Given the description of an element on the screen output the (x, y) to click on. 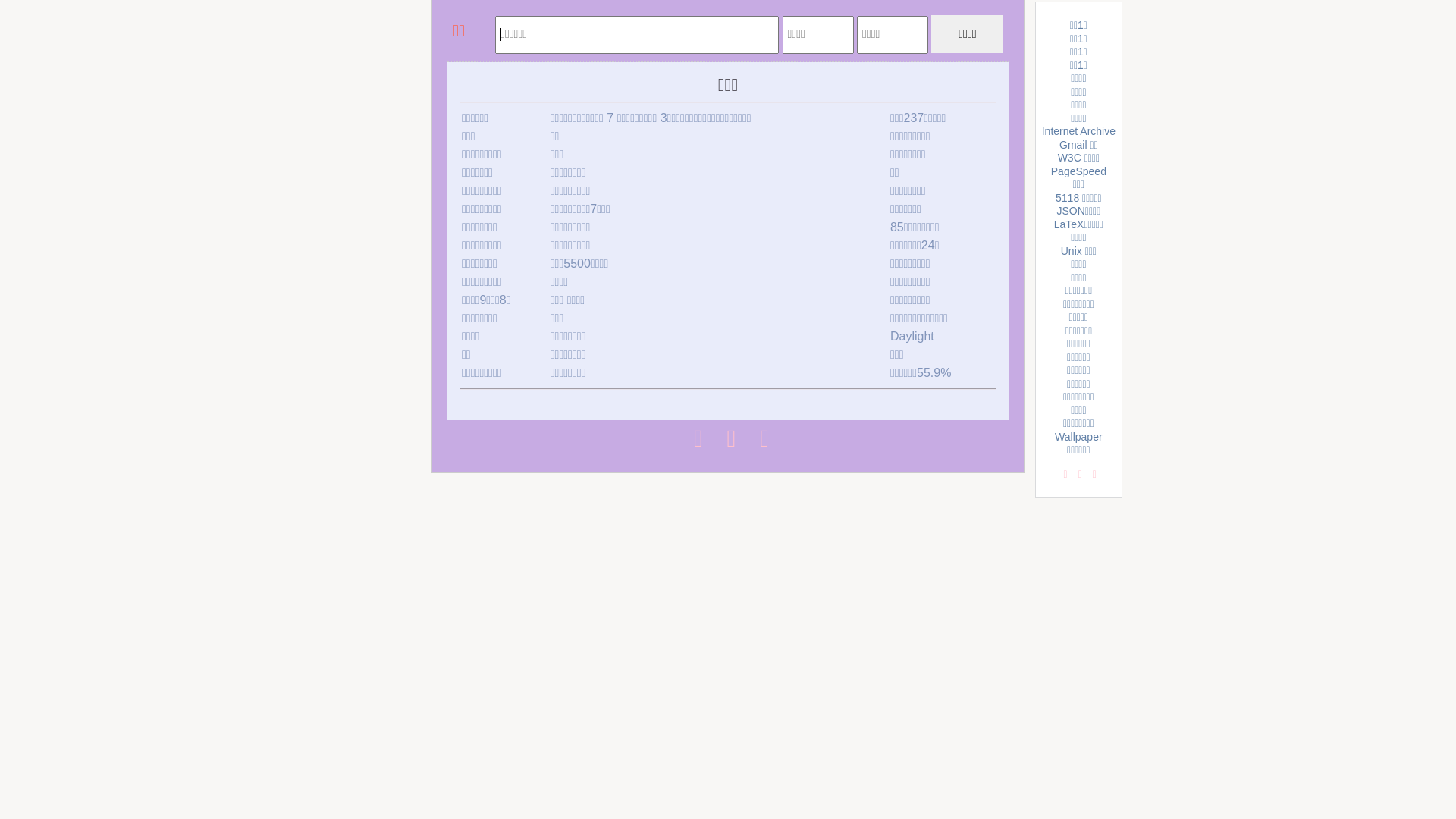
no canvas Element type: text (472, 33)
Internet Archive Element type: text (1078, 131)
Daylight Element type: text (912, 335)
Wallpaper Element type: text (1078, 436)
PageSpeed Element type: text (1078, 171)
